Given the description of an element on the screen output the (x, y) to click on. 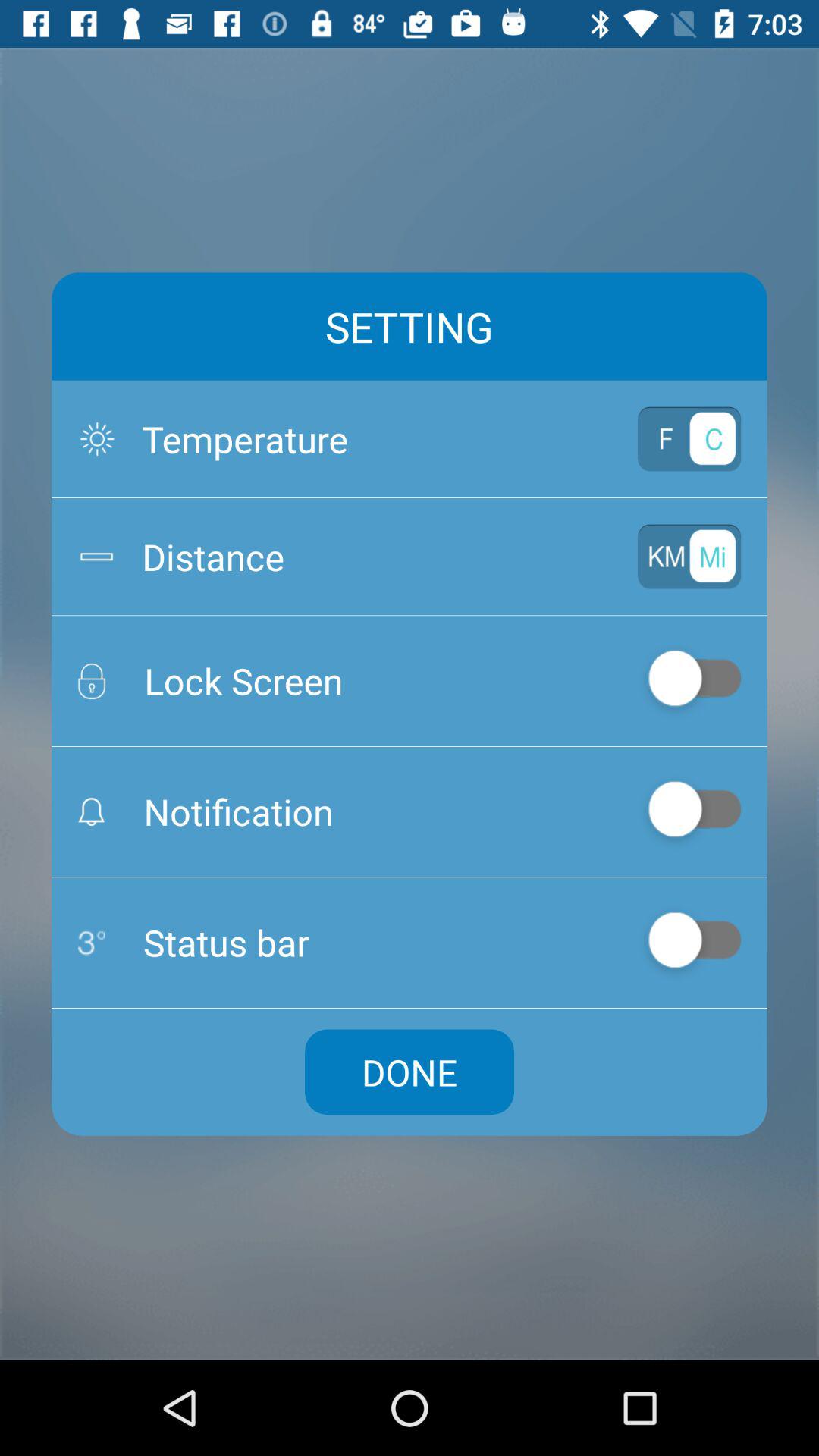
jump until done icon (409, 1071)
